Given the description of an element on the screen output the (x, y) to click on. 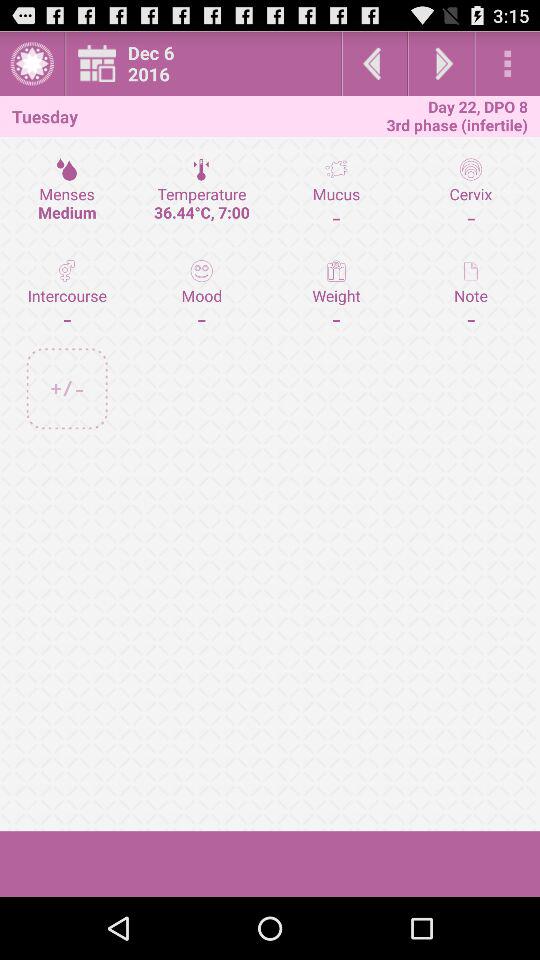
previous page (374, 63)
